Given the description of an element on the screen output the (x, y) to click on. 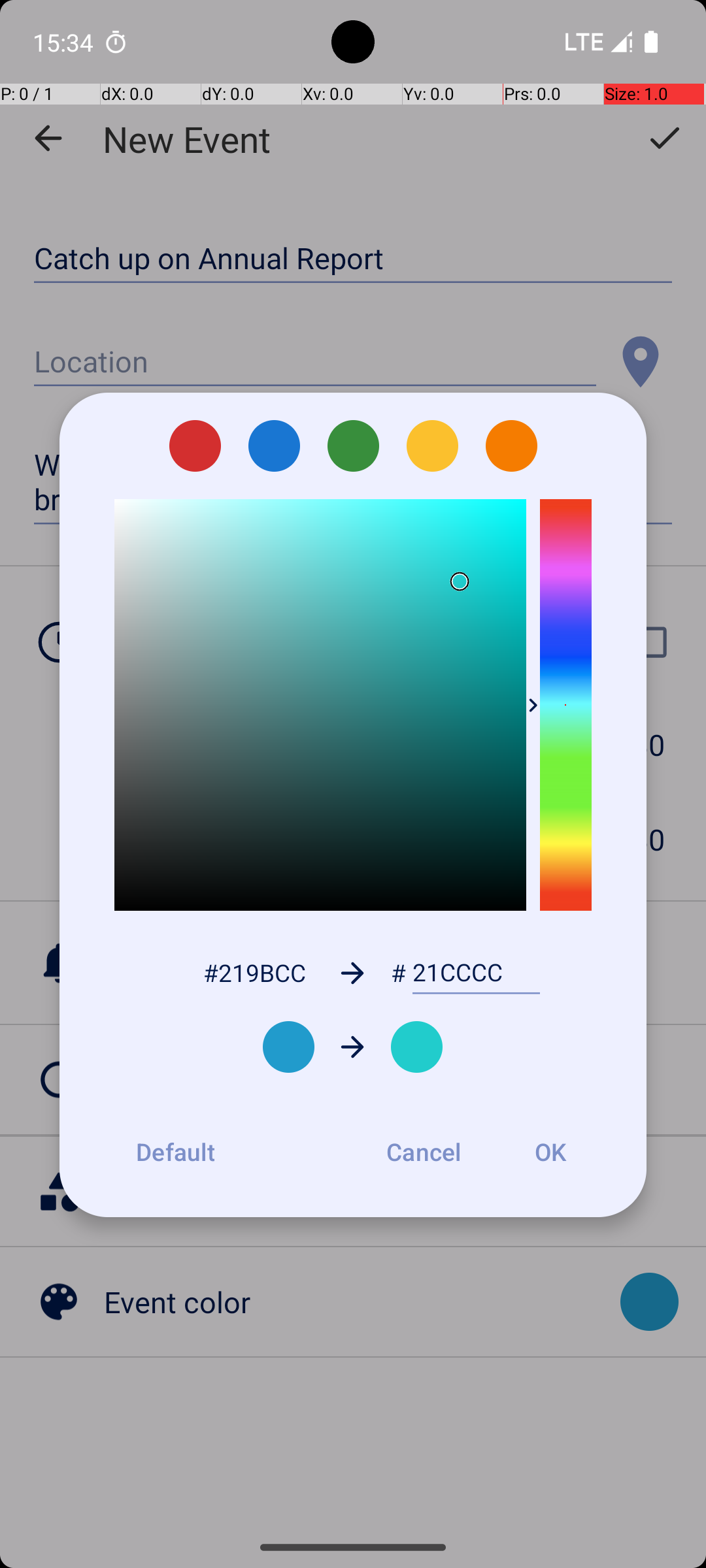
21CCCC Element type: android.widget.EditText (475, 972)
